Given the description of an element on the screen output the (x, y) to click on. 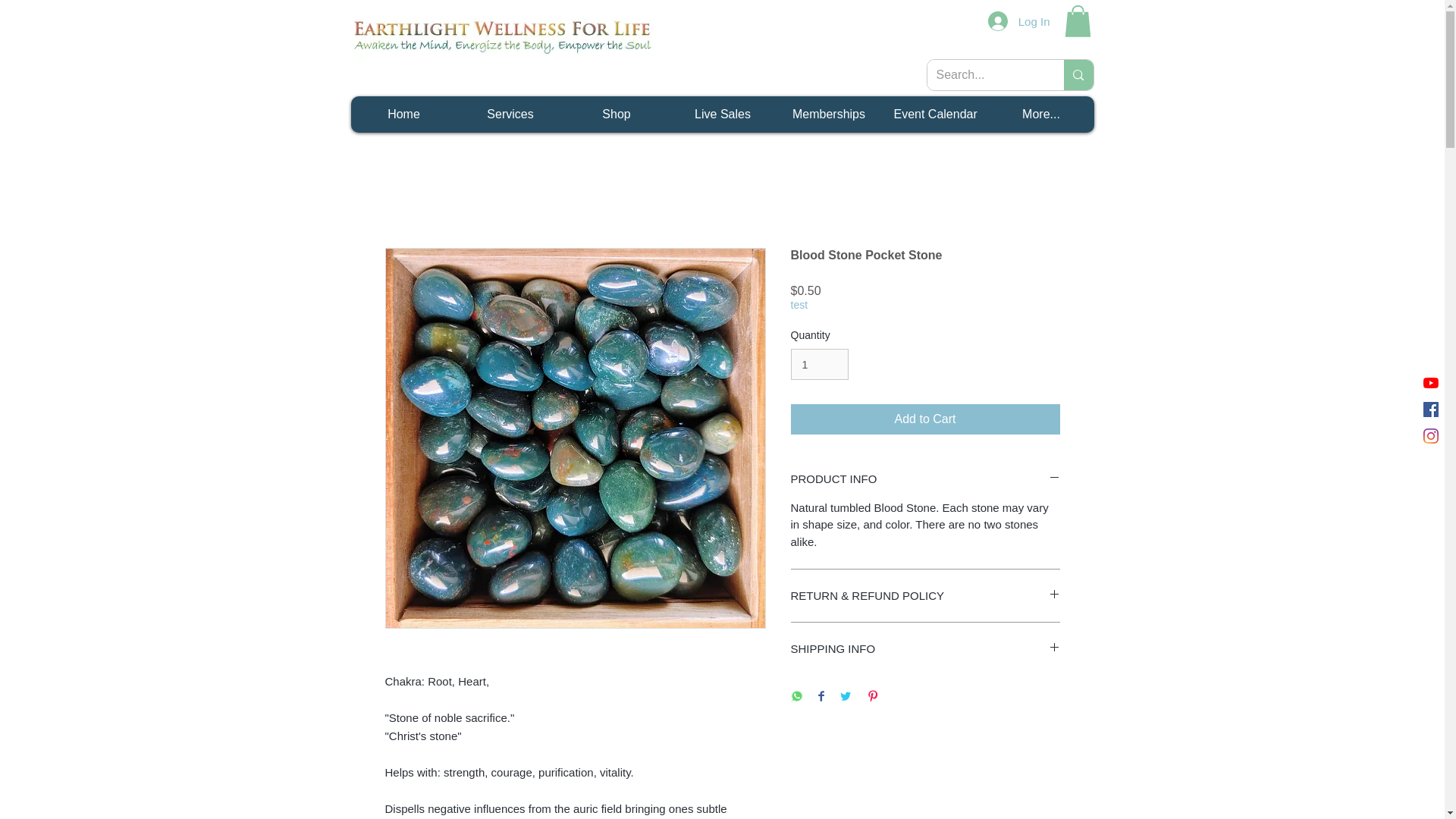
Log In (1018, 21)
PRODUCT INFO (924, 478)
Event Calendar (933, 114)
Add to Cart (924, 419)
Live Sales (721, 114)
SHIPPING INFO (924, 648)
Services (509, 114)
1 (818, 364)
Shop (615, 114)
Memberships (827, 114)
Home (403, 114)
